Given the description of an element on the screen output the (x, y) to click on. 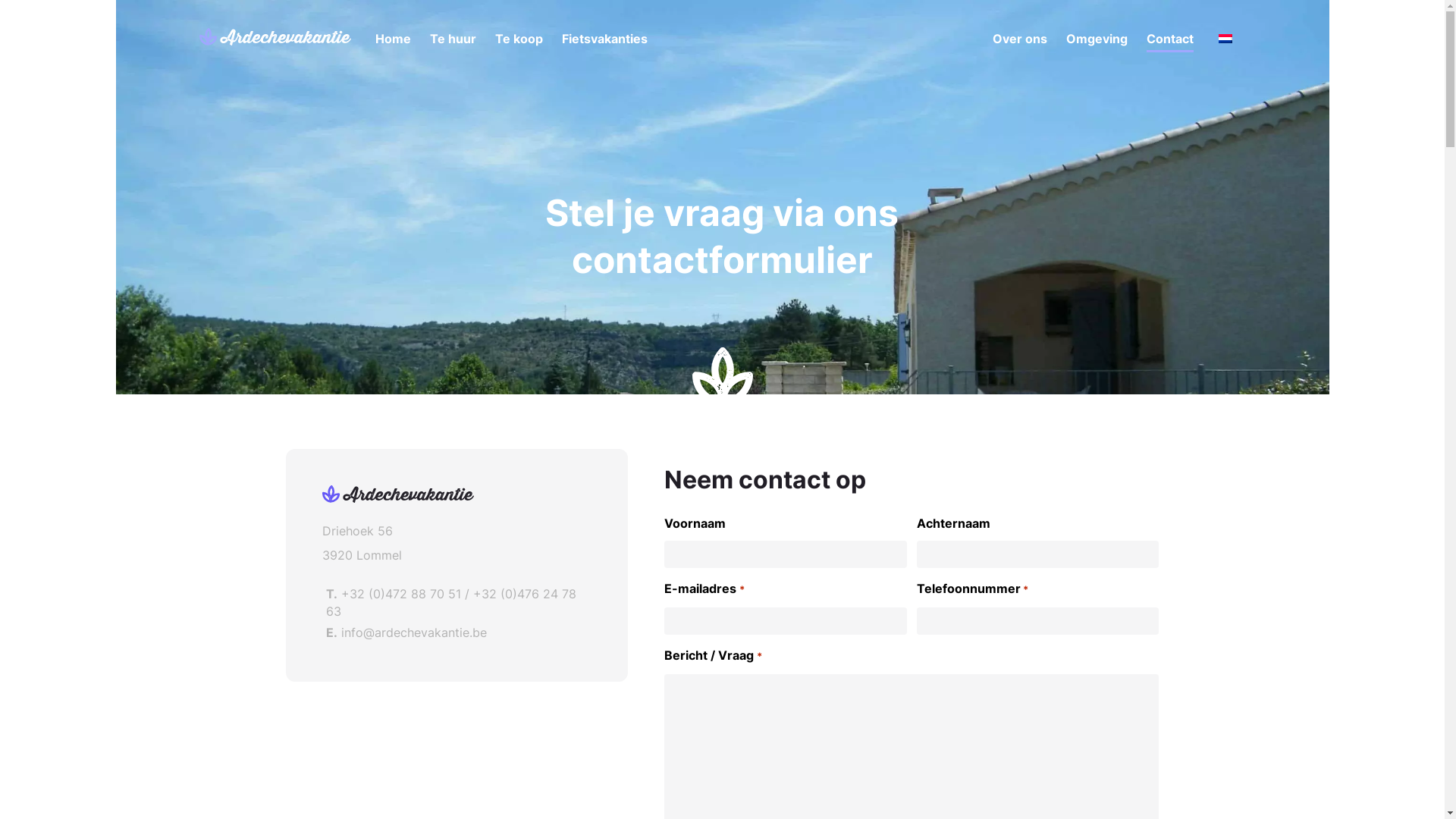
Te huur Element type: text (452, 38)
T. +32 (0)472 88 70 51 / +32 (0)476 24 78 63 Element type: text (456, 602)
Te koop Element type: text (518, 38)
Over ons Element type: text (1018, 38)
Contact Element type: text (1169, 41)
Home Element type: text (392, 38)
Fietsvakanties Element type: text (603, 38)
Omgeving Element type: text (1096, 38)
E. info@ardechevakantie.be Element type: text (456, 632)
